Given the description of an element on the screen output the (x, y) to click on. 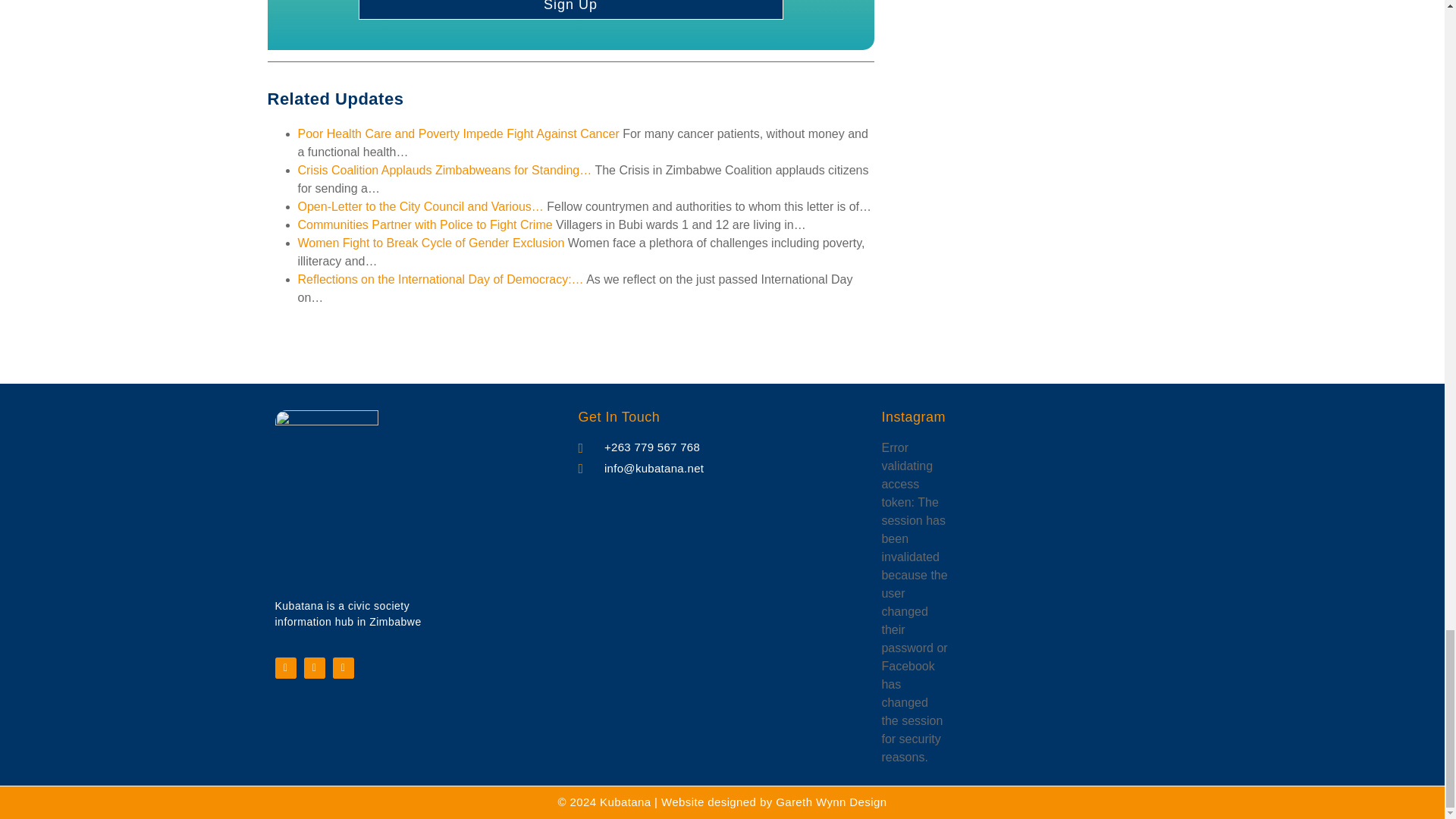
Women Fight to Break Cycle of Gender Exclusion (430, 242)
Sign Up (570, 9)
Poor Health Care and Poverty Impede Fight Against Cancer (457, 133)
Communities Partner with Police to Fight Crime (424, 224)
